Given the description of an element on the screen output the (x, y) to click on. 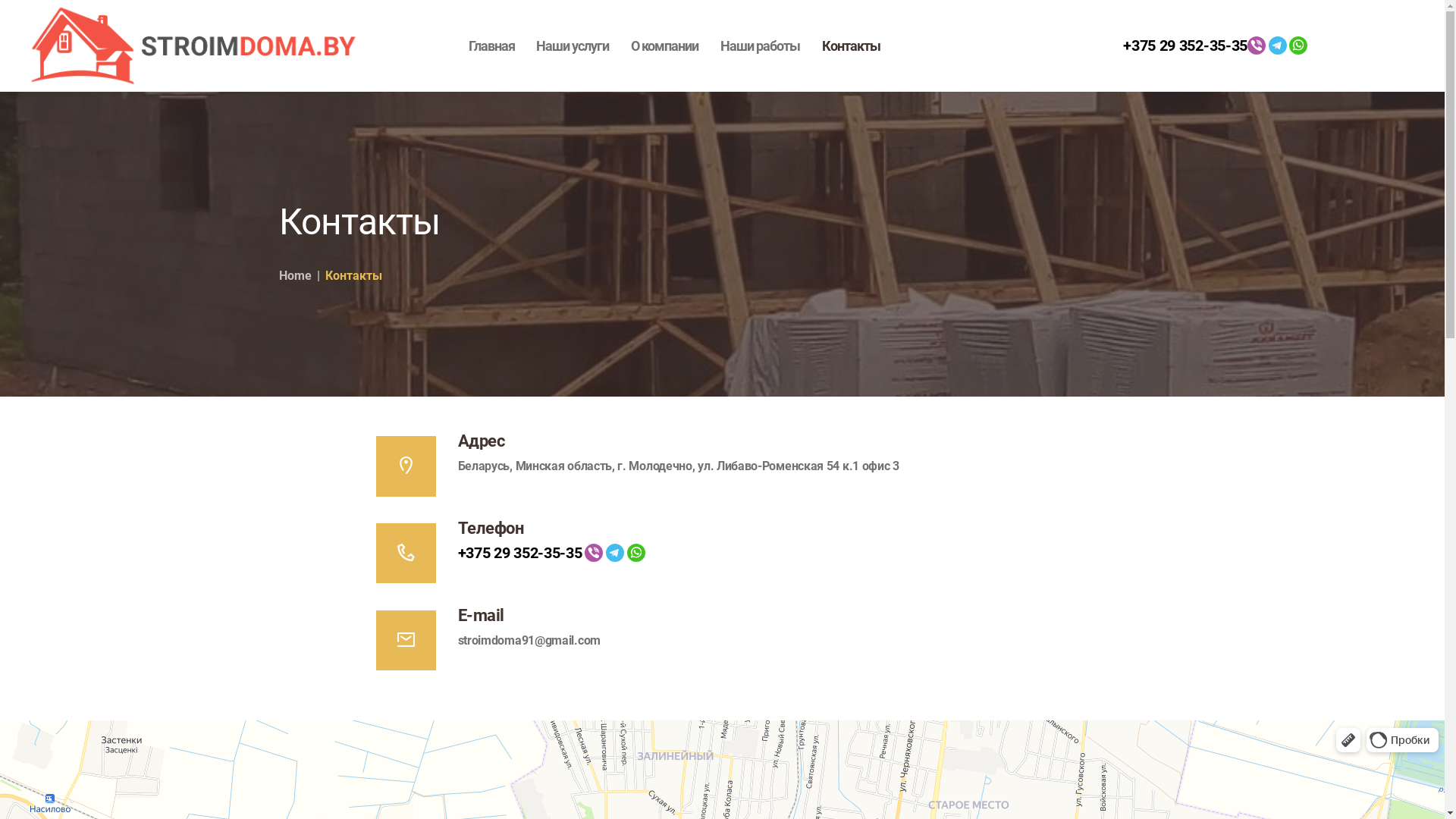
stroimdoma91@gmail.com Element type: text (529, 640)
Home Element type: text (295, 275)
+375 29 352-35-35 Element type: text (520, 552)
+375 29 352-35-35 Element type: text (1185, 45)
